Given the description of an element on the screen output the (x, y) to click on. 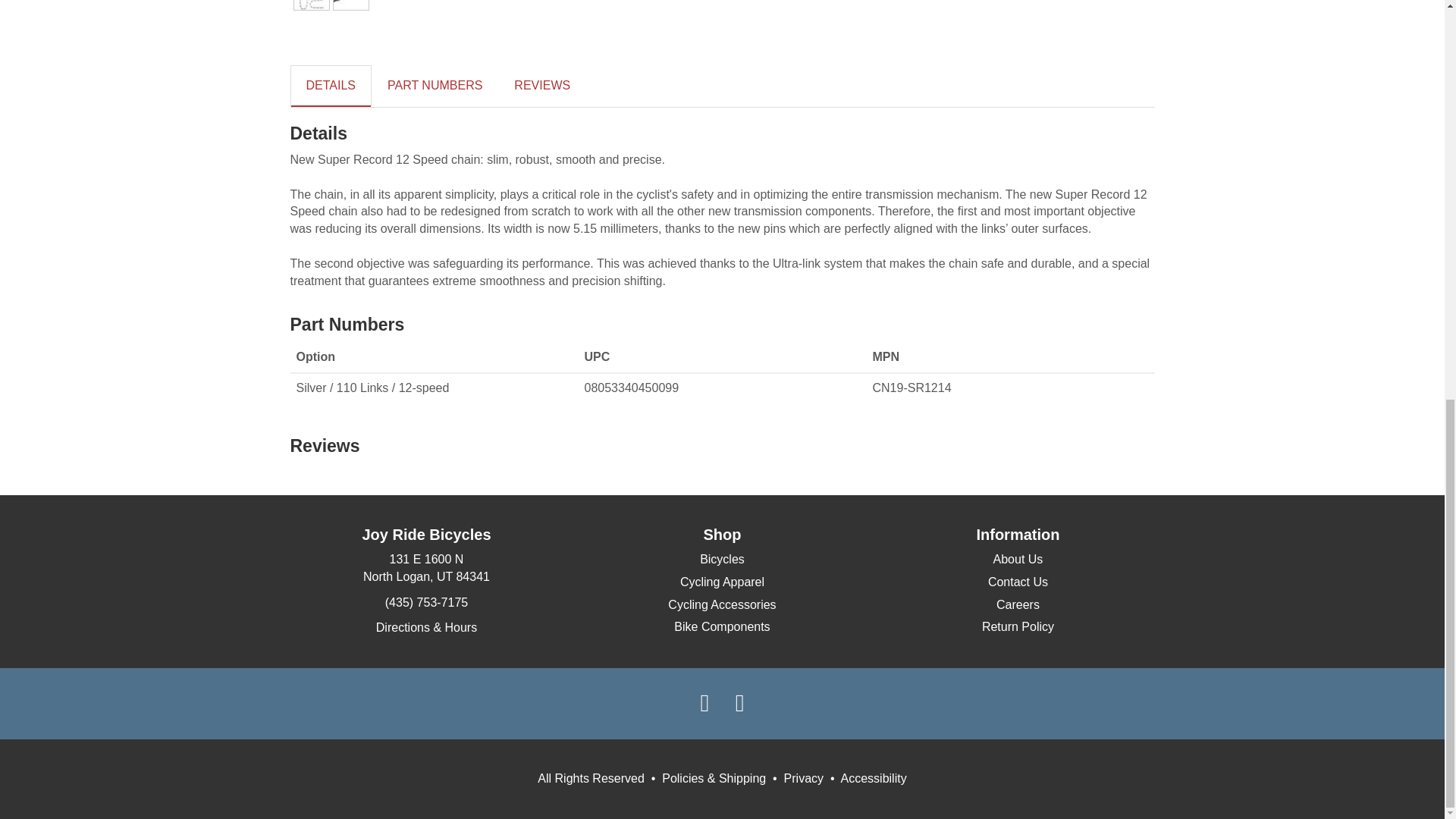
Color: Silver (311, 4)
Color: Silver (350, 4)
